Given the description of an element on the screen output the (x, y) to click on. 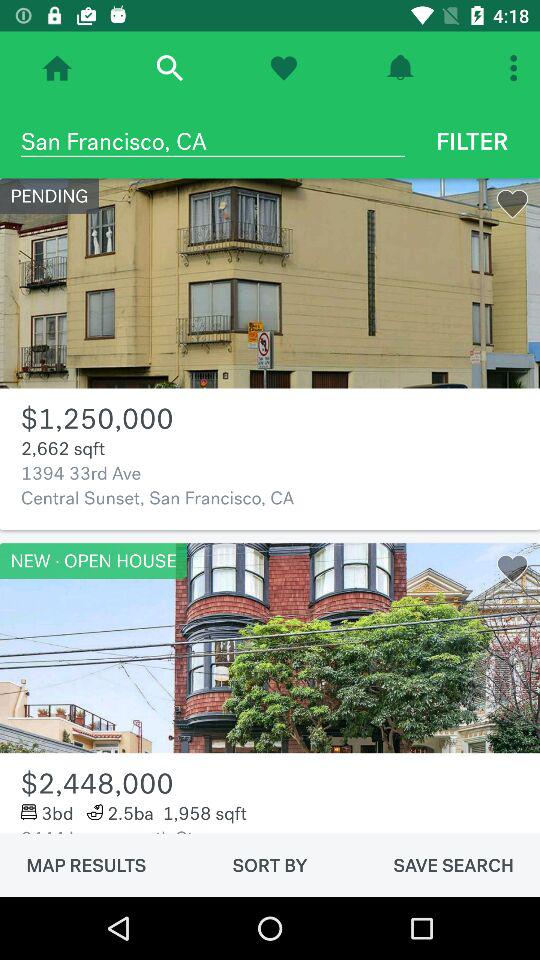
press the item at the bottom right corner (453, 865)
